Given the description of an element on the screen output the (x, y) to click on. 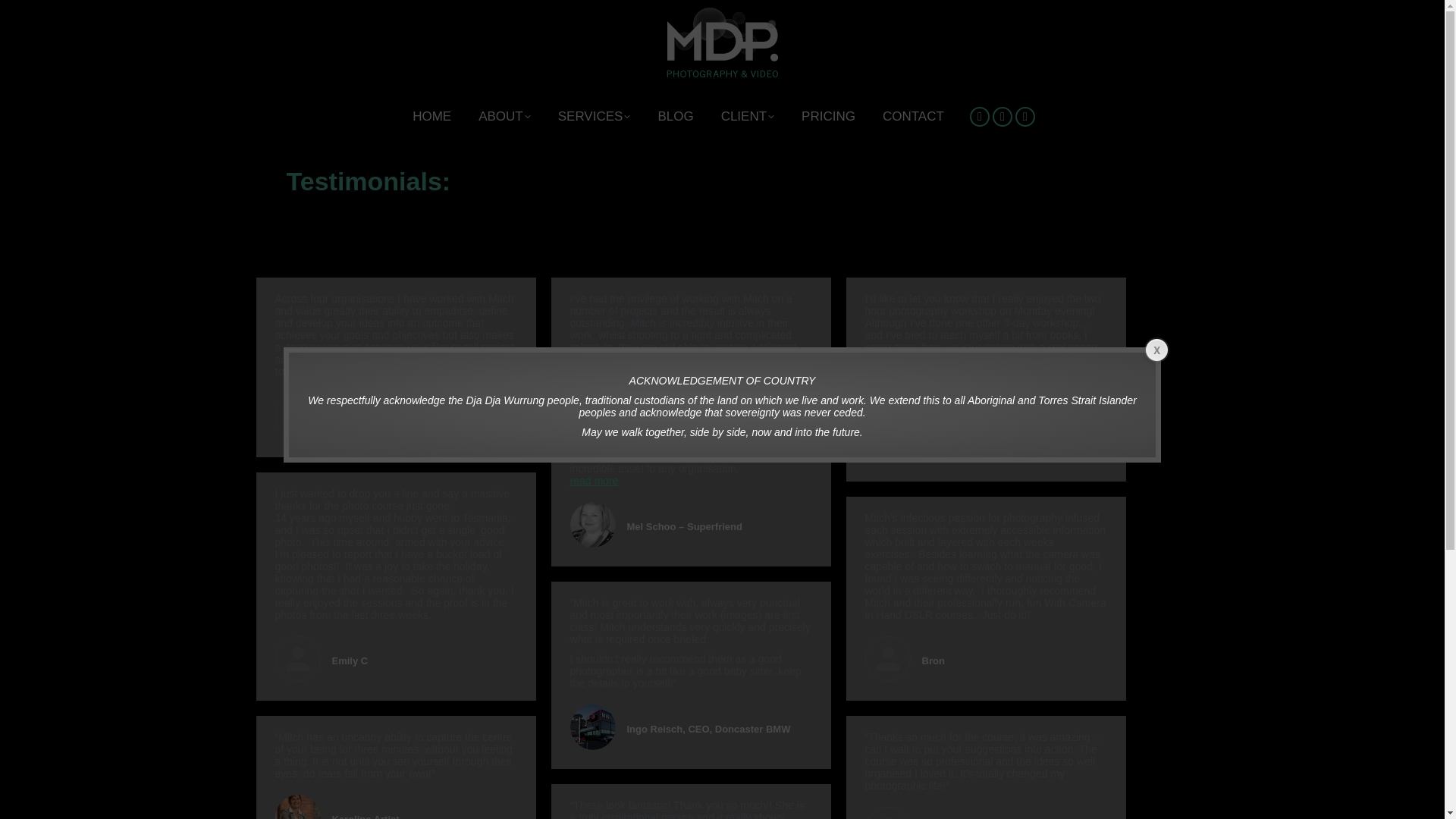
Vimeo page opens in new window (1001, 116)
HOME (431, 116)
Instagram page opens in new window (1024, 116)
mdp-sf-headshots-2443 (592, 524)
SERVICES (593, 116)
ABOUT (505, 116)
Linkedin page opens in new window (979, 116)
